Given the description of an element on the screen output the (x, y) to click on. 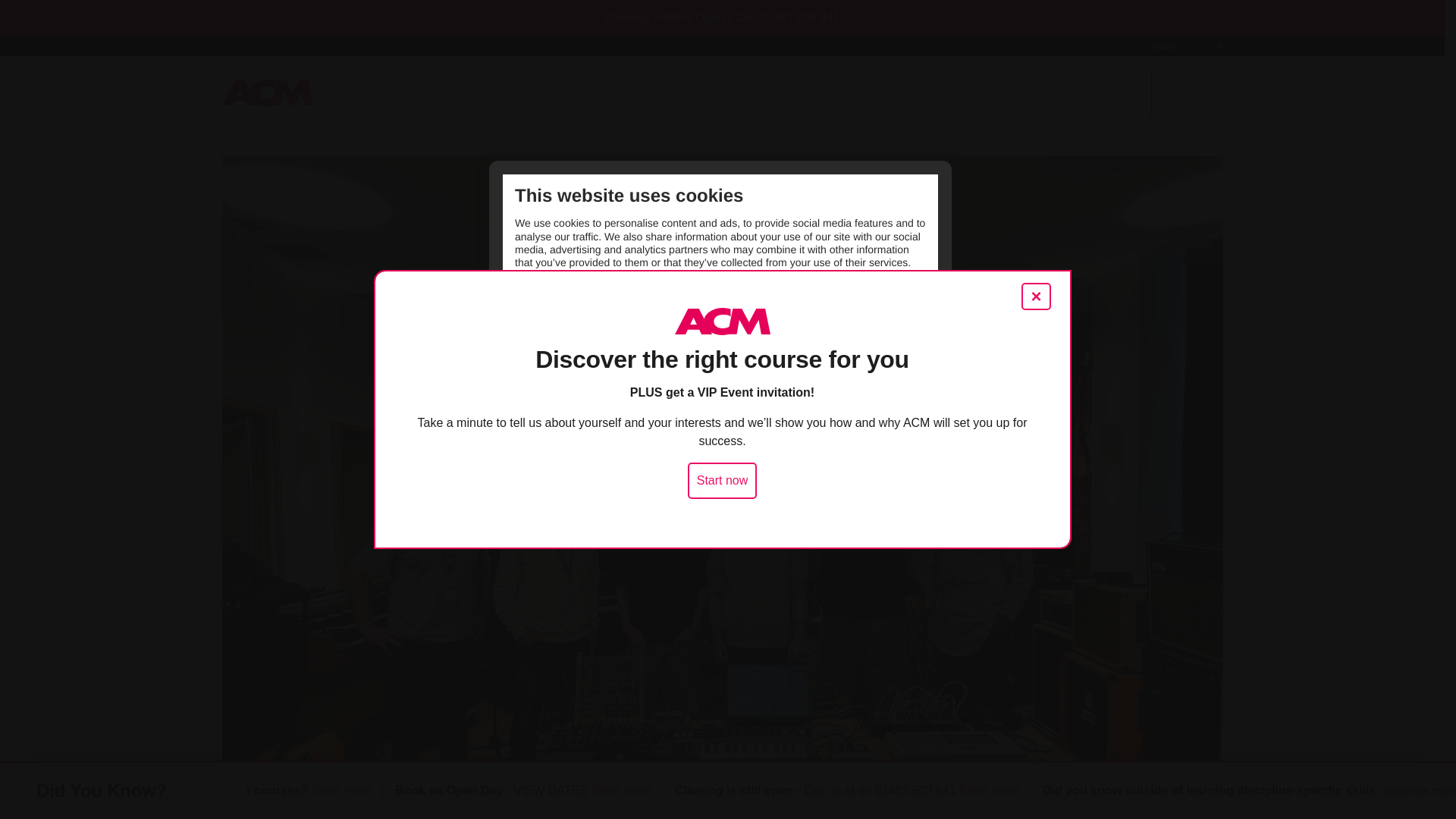
Allow all cookies (728, 295)
Show details (893, 295)
Use necessary cookies only (582, 295)
